Given the description of an element on the screen output the (x, y) to click on. 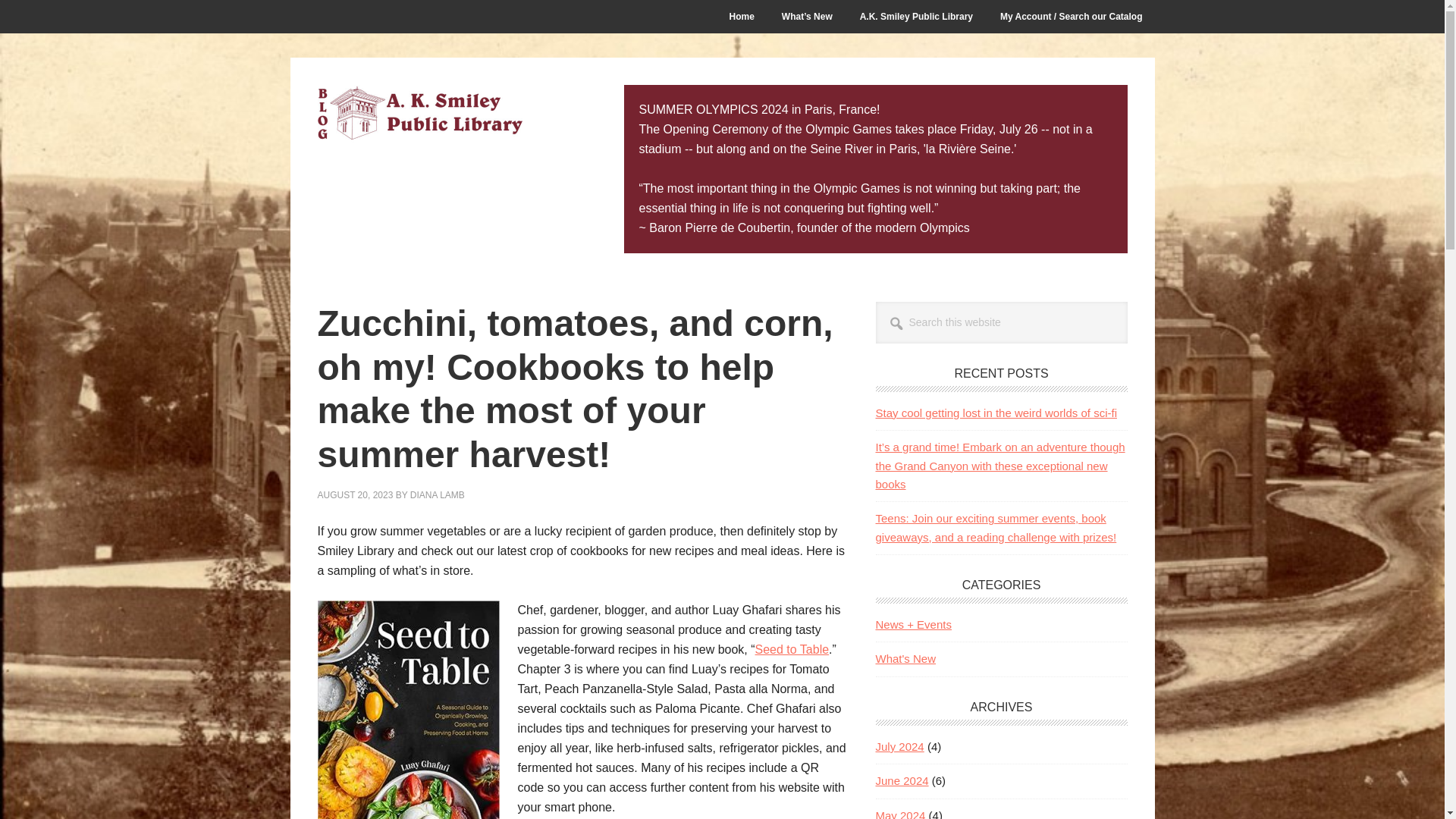
A.K. SMILEY PUBLIC LIBRARY BLOG (419, 115)
Stay cool getting lost in the weird worlds of sci-fi (995, 412)
A.K. Smiley Public Library (916, 16)
DIANA LAMB (437, 494)
July 2024 (899, 746)
What's New (905, 658)
Seed to Table (792, 649)
May 2024 (899, 813)
June 2024 (901, 780)
Home (742, 16)
